Given the description of an element on the screen output the (x, y) to click on. 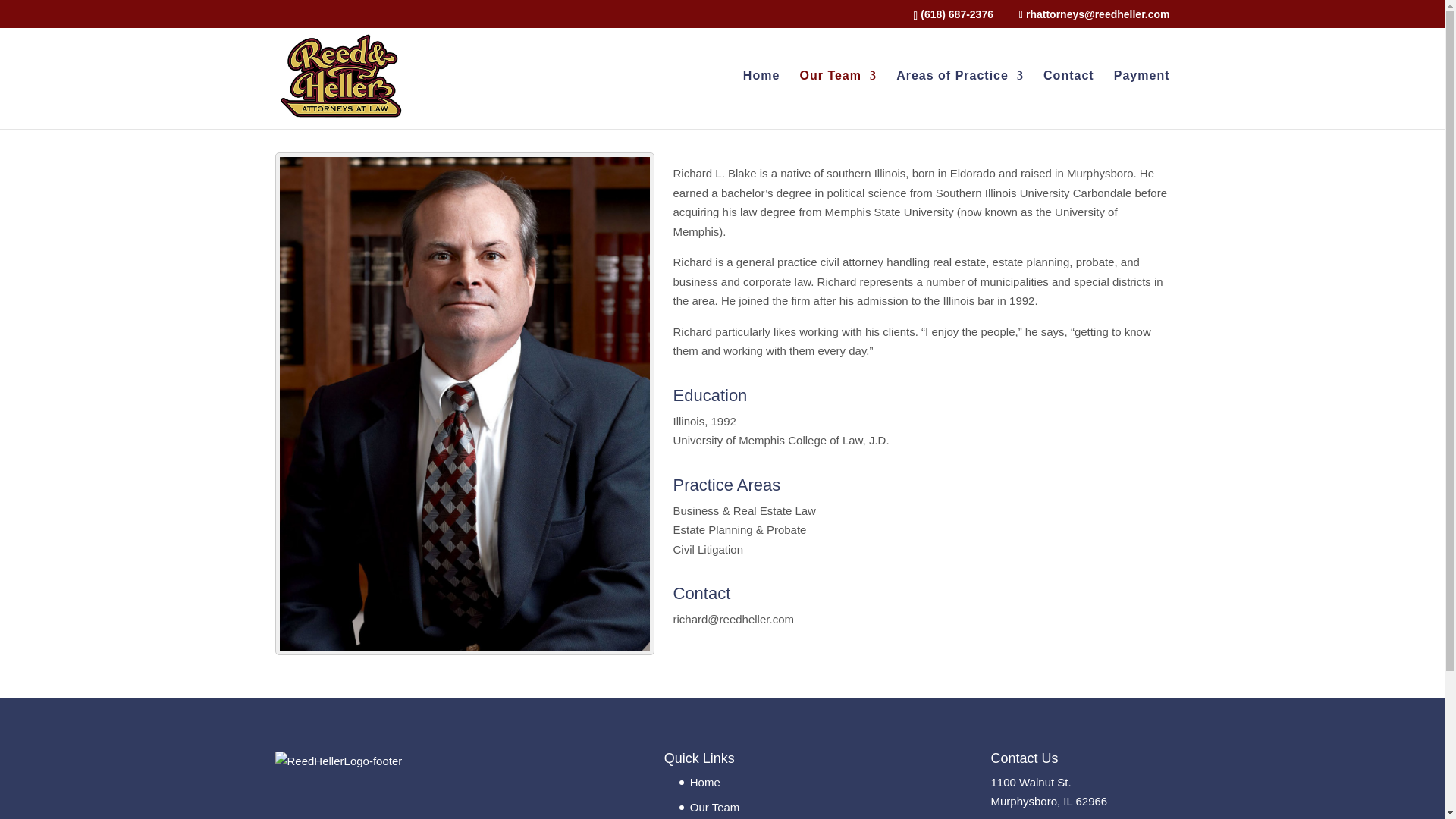
Payment (1141, 99)
Home (705, 781)
Our Team (837, 99)
Our Team (714, 807)
Areas of Practice (959, 99)
